Given the description of an element on the screen output the (x, y) to click on. 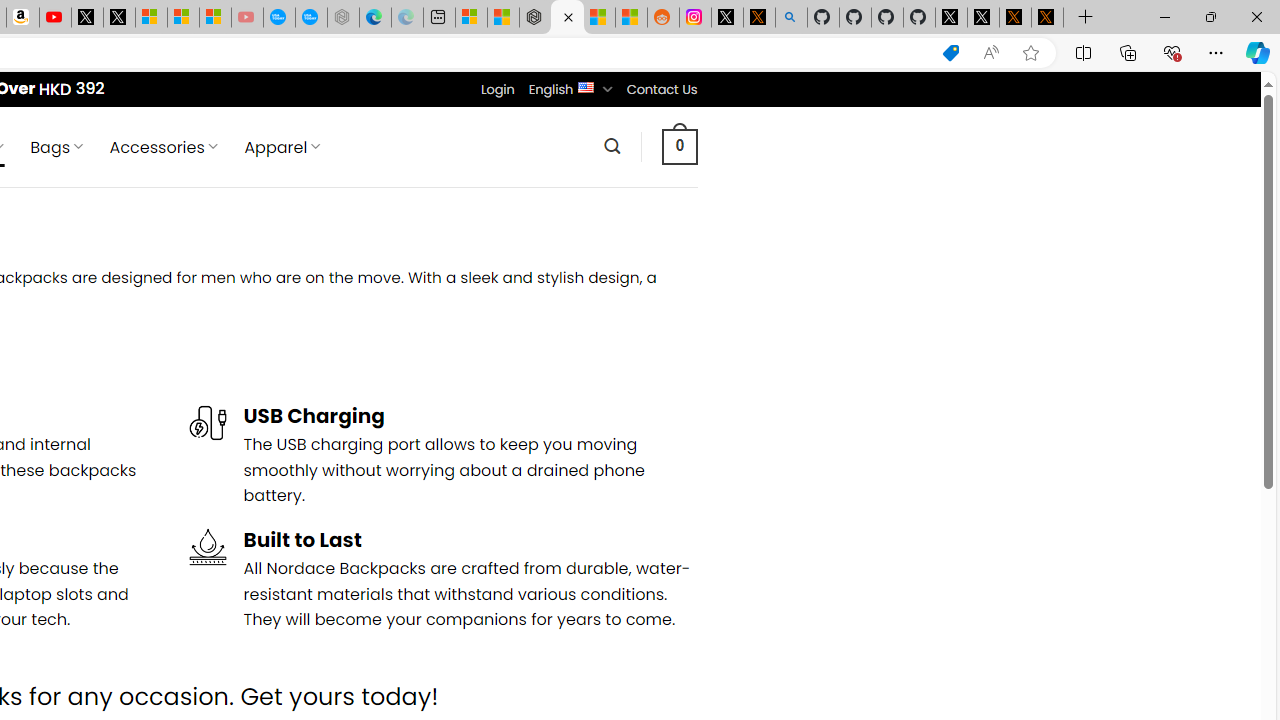
Search (612, 146)
X Privacy Policy (1047, 17)
Login (497, 89)
help.x.com | 524: A timeout occurred (758, 17)
Nordace - Men's Backpacks (566, 17)
